Given the description of an element on the screen output the (x, y) to click on. 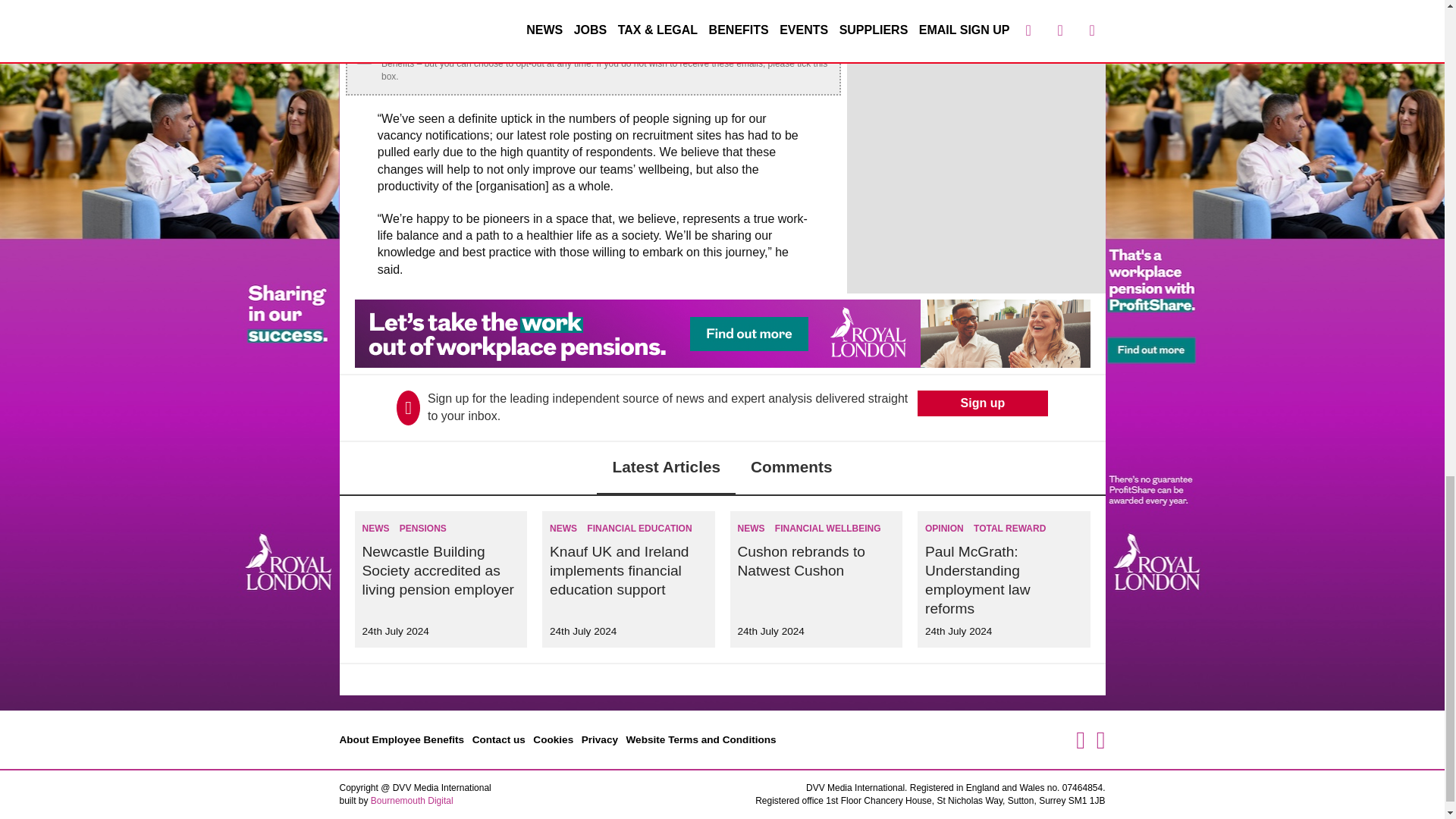
3rd party ad content (722, 333)
yes (364, 54)
Submit (796, 18)
Submit (796, 18)
Comments (791, 468)
NEWS (376, 528)
Latest Articles (665, 468)
